Given the description of an element on the screen output the (x, y) to click on. 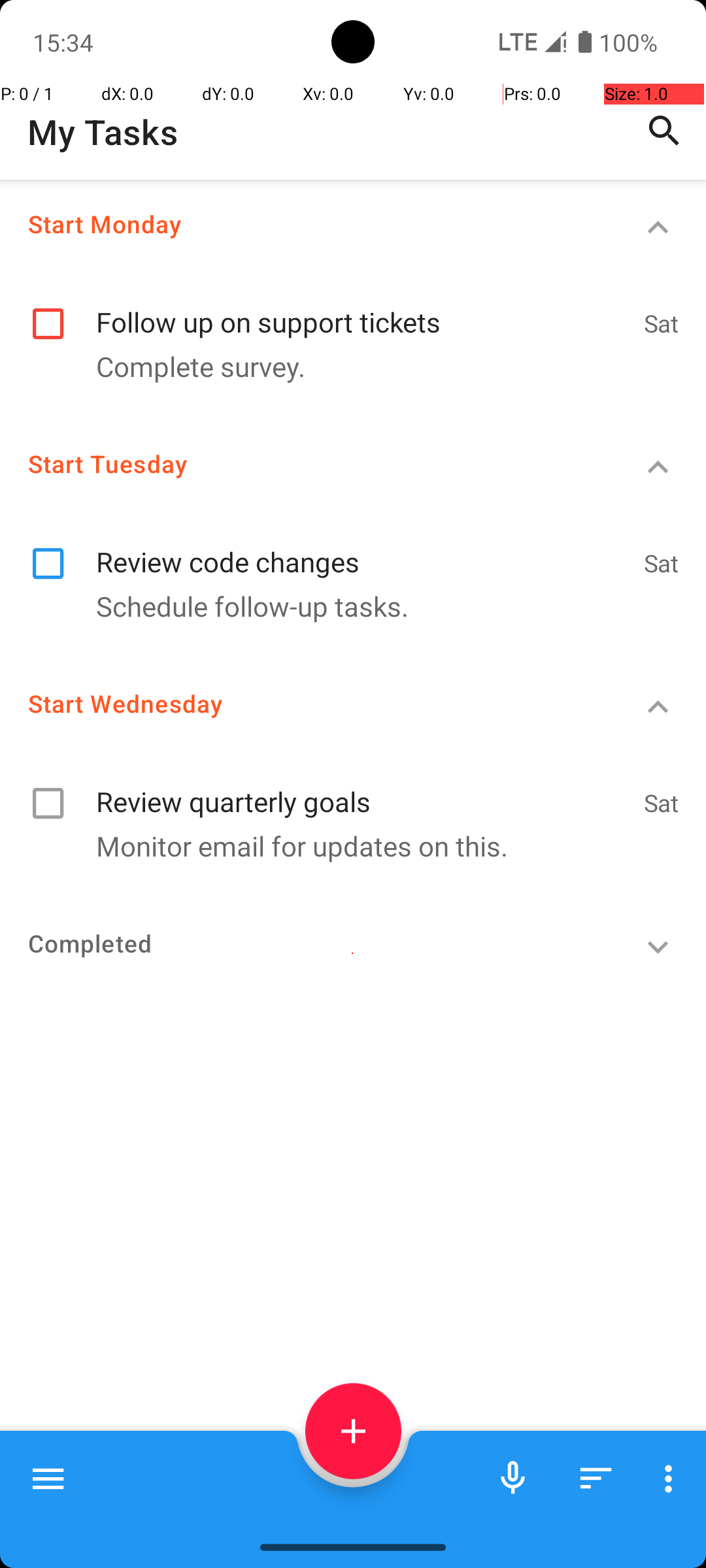
Start Monday Element type: android.widget.TextView (304, 223)
Start Tuesday Element type: android.widget.TextView (304, 463)
Start Wednesday Element type: android.widget.TextView (304, 703)
Completed Element type: android.widget.TextView (304, 942)
Follow up on support tickets Element type: android.widget.TextView (363, 307)
Complete survey. Element type: android.widget.TextView (346, 365)
Review code changes Element type: android.widget.TextView (363, 547)
Schedule follow-up tasks. Element type: android.widget.TextView (346, 605)
Review quarterly goals Element type: android.widget.TextView (363, 787)
